Given the description of an element on the screen output the (x, y) to click on. 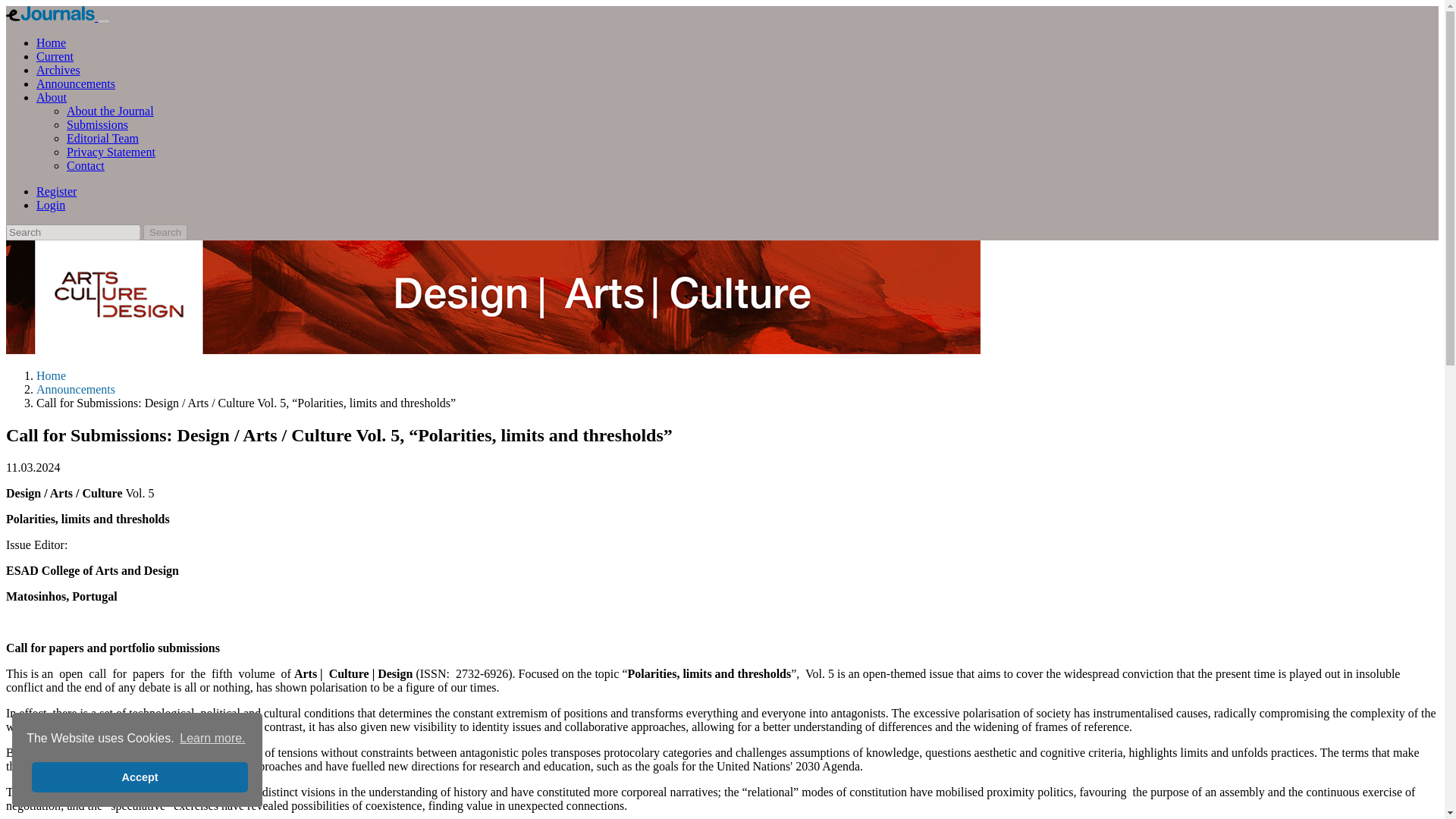
Editorial Team (102, 137)
About the Journal (110, 110)
Accept (139, 777)
Login (50, 205)
Archives (58, 69)
Search (164, 232)
About (51, 97)
Home (50, 375)
Submissions (97, 124)
Contact (85, 164)
Privacy Statement (110, 151)
Home (50, 42)
Current (55, 56)
Announcements (75, 83)
Announcements (75, 389)
